Given the description of an element on the screen output the (x, y) to click on. 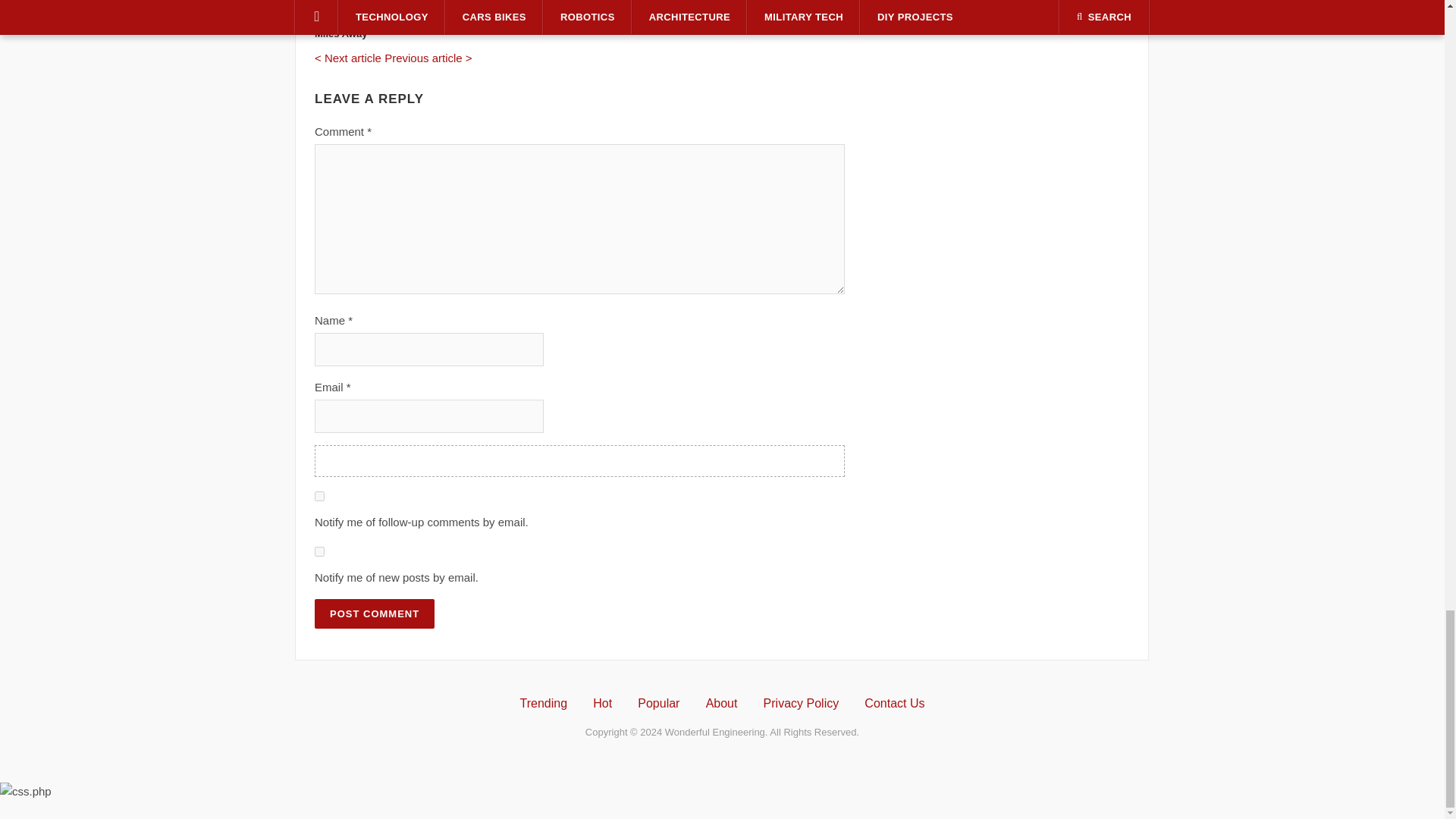
subscribe (319, 496)
subscribe (319, 551)
Post Comment (373, 613)
